Given the description of an element on the screen output the (x, y) to click on. 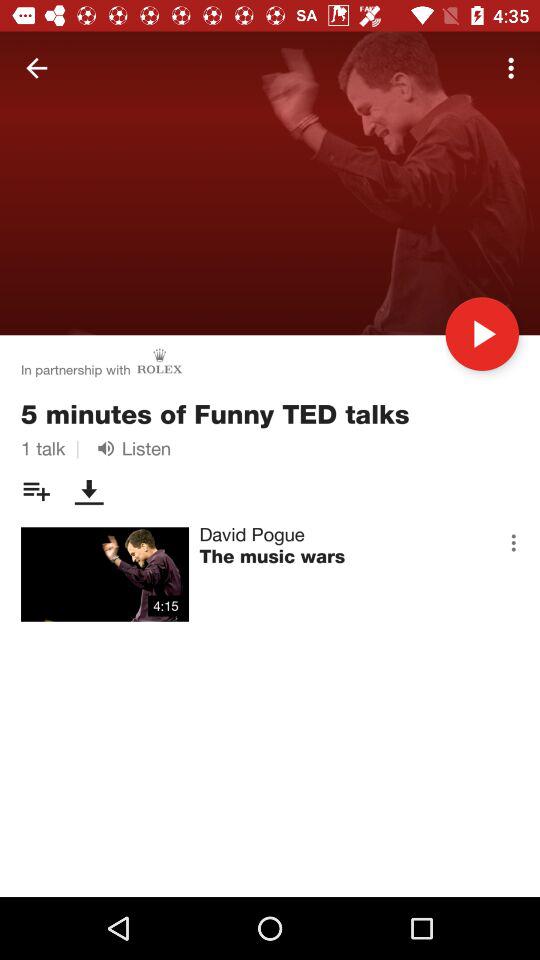
turn off item next to the | (130, 448)
